Given the description of an element on the screen output the (x, y) to click on. 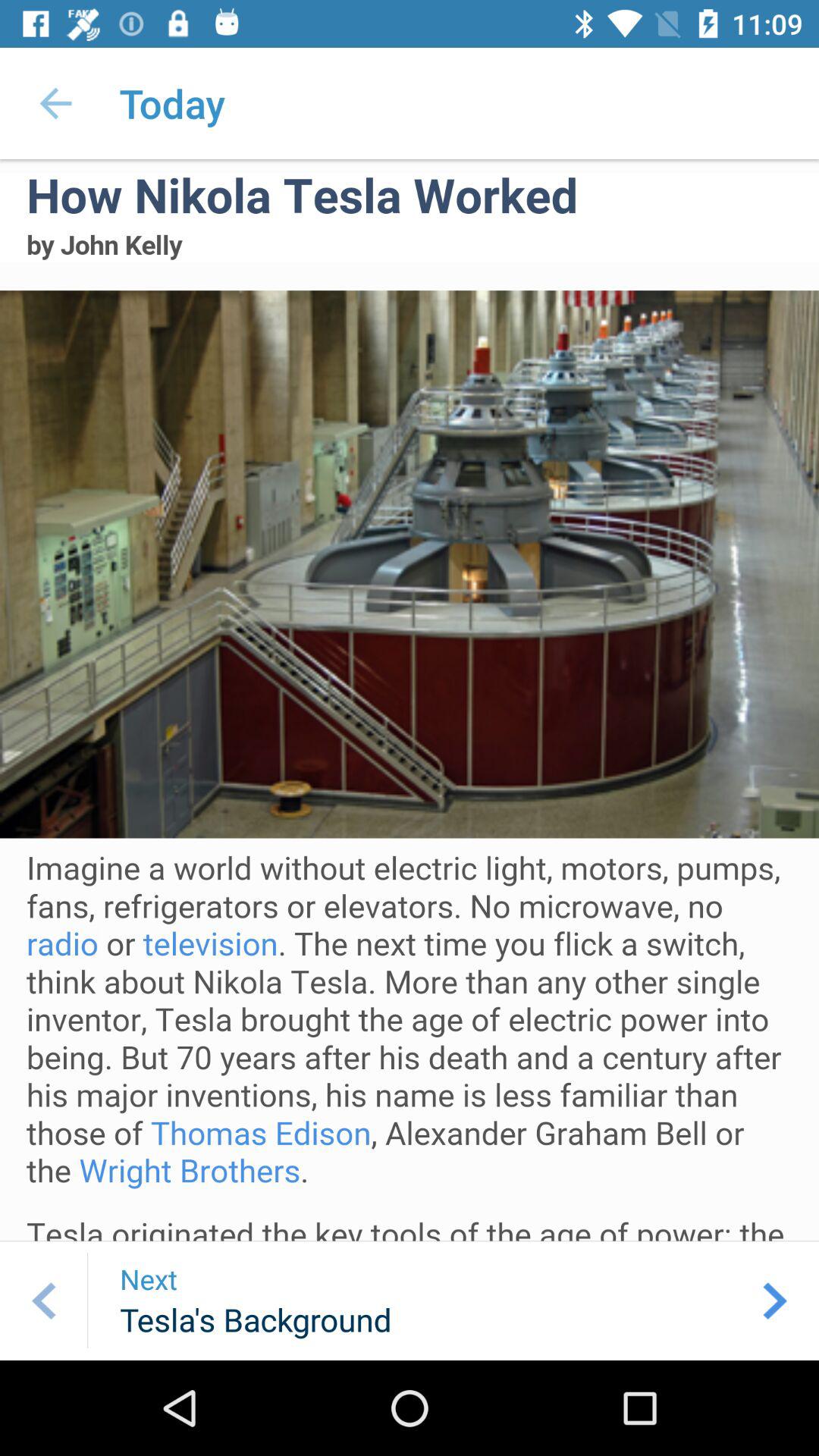
go back (43, 1300)
